Given the description of an element on the screen output the (x, y) to click on. 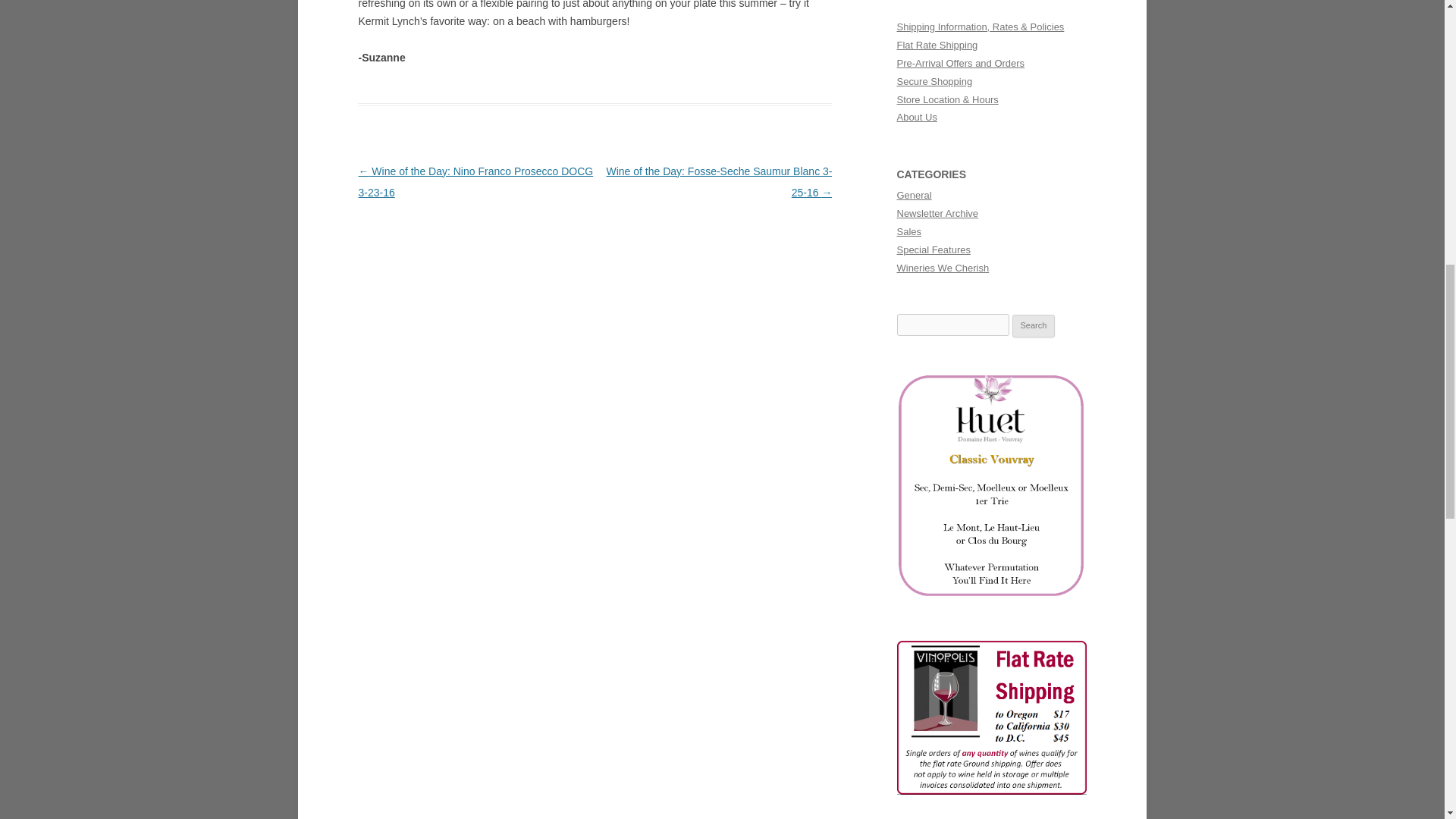
Pre-Arrival Offers and Orders (960, 62)
Secure Shopping (934, 81)
Flat Rate Shipping (936, 44)
About Us (916, 116)
Sales (908, 231)
Wineries We Cherish (942, 267)
General (913, 194)
Search (1033, 325)
Newsletter Archive (937, 213)
Special Features (932, 249)
Search (1033, 325)
